Given the description of an element on the screen output the (x, y) to click on. 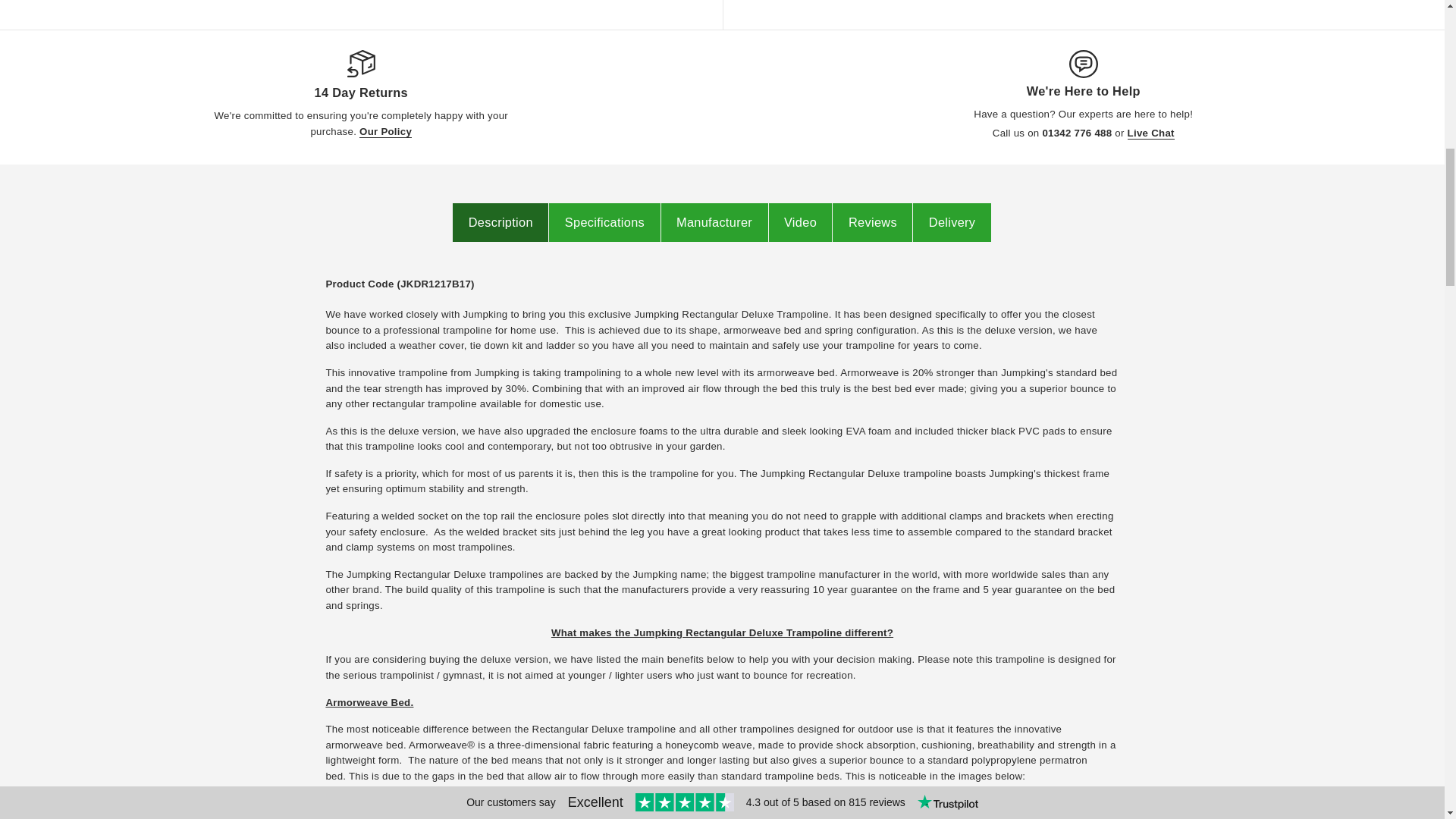
Our Policy (385, 132)
